Given the description of an element on the screen output the (x, y) to click on. 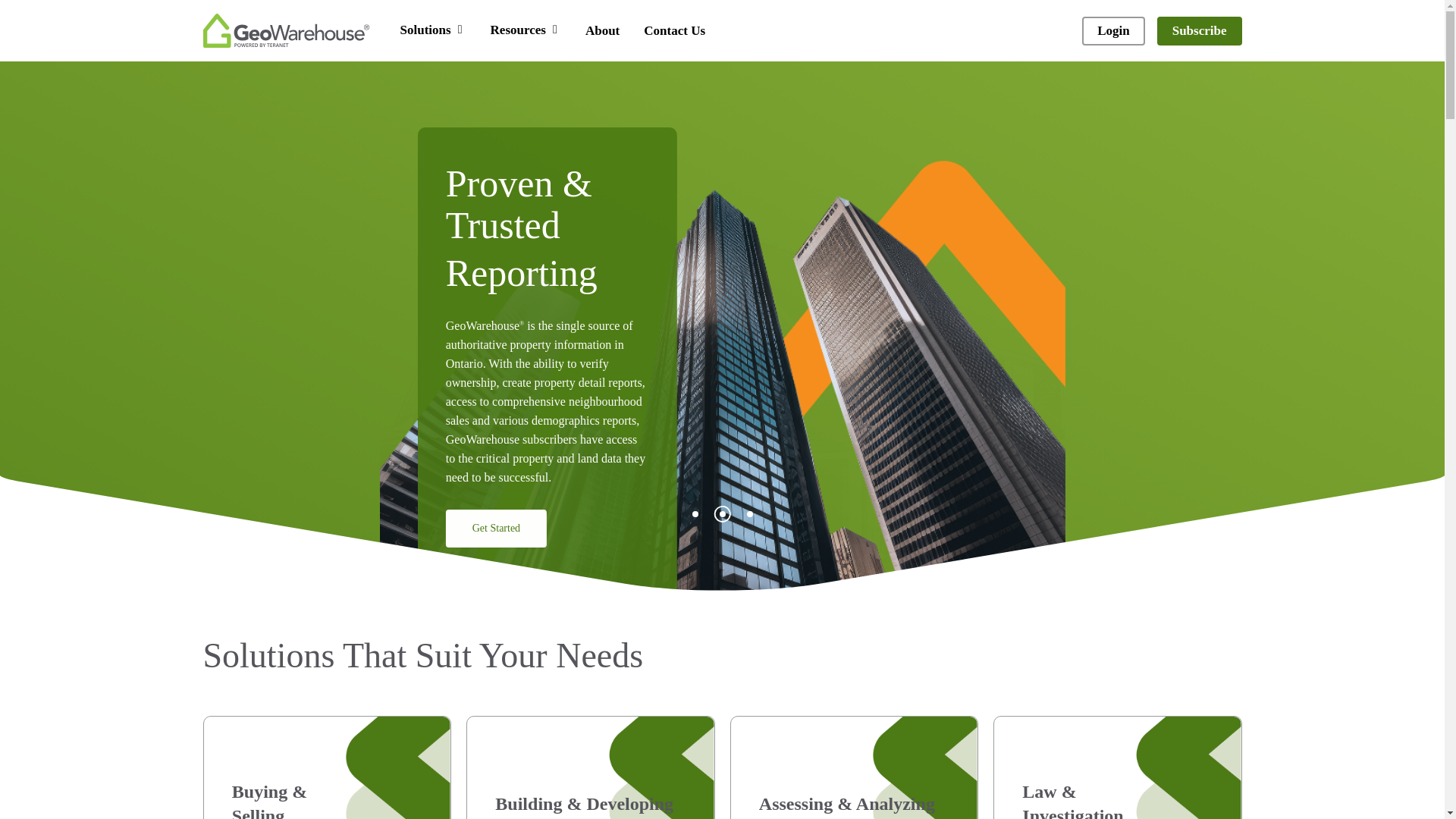
Solutions (432, 30)
Resources (525, 30)
